Given the description of an element on the screen output the (x, y) to click on. 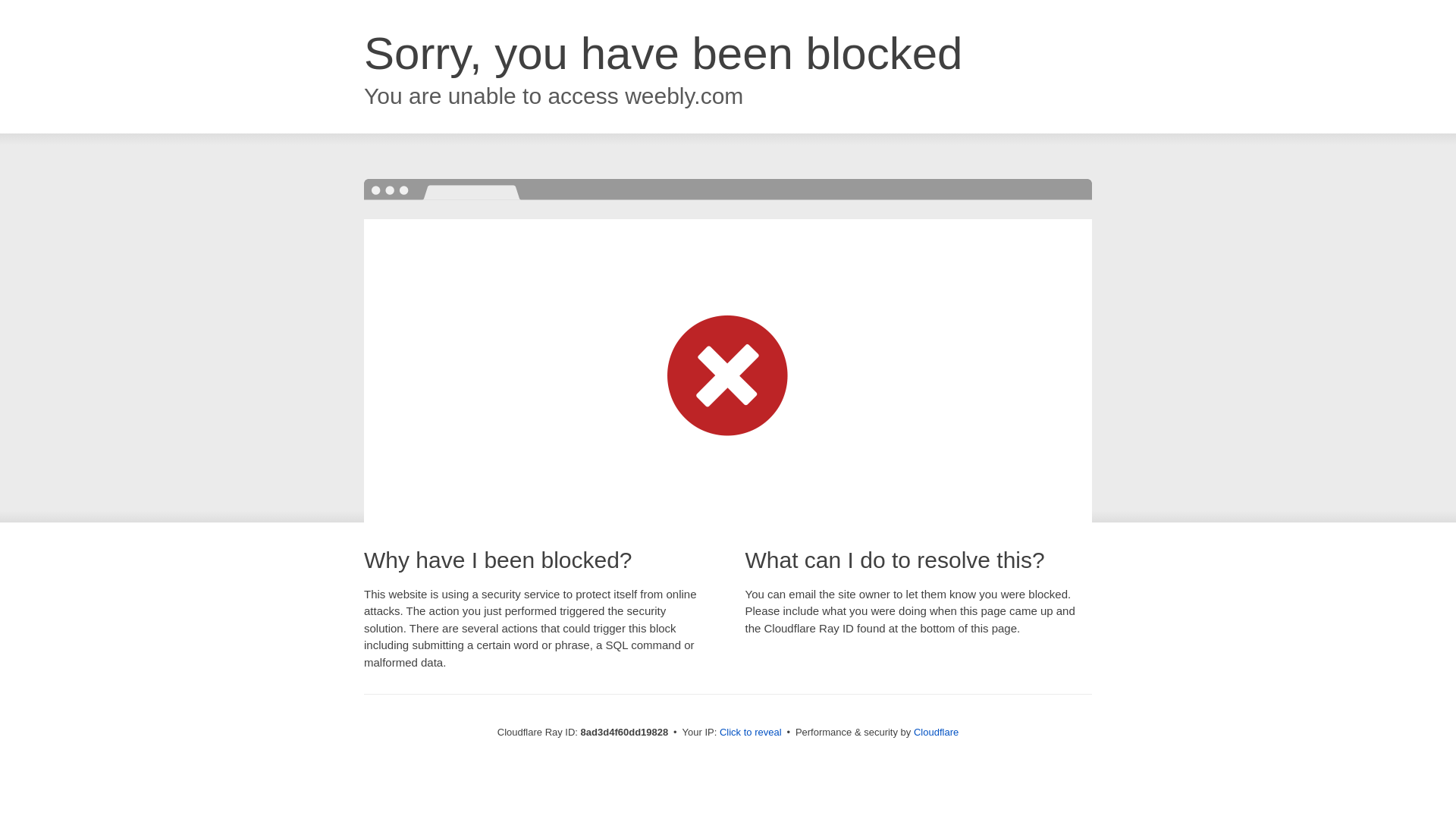
Click to reveal (750, 732)
Cloudflare (936, 731)
